Given the description of an element on the screen output the (x, y) to click on. 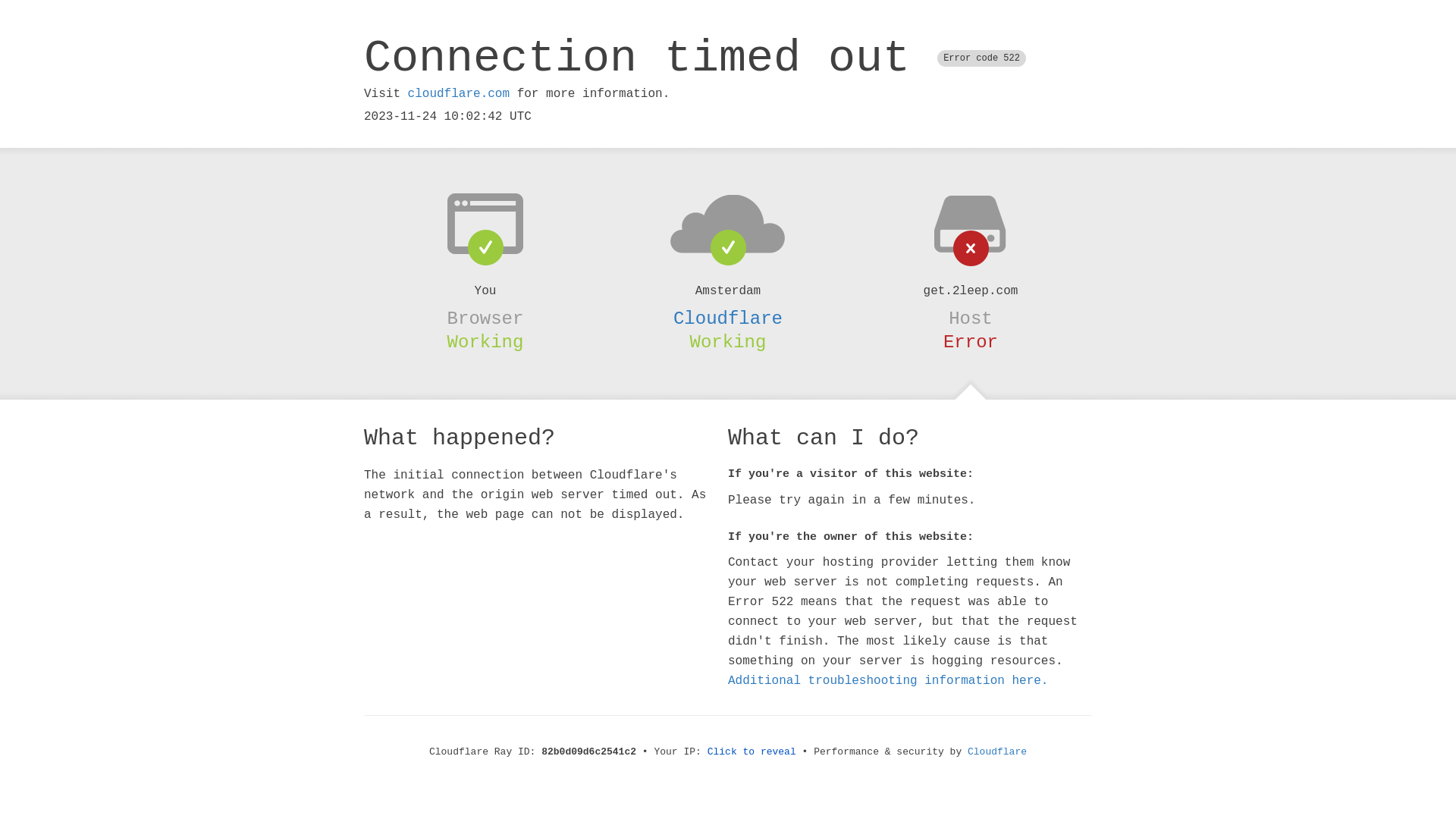
Cloudflare Element type: text (996, 751)
cloudflare.com Element type: text (458, 93)
Cloudflare Element type: text (727, 318)
Additional troubleshooting information here. Element type: text (888, 680)
Click to reveal Element type: text (751, 751)
